Given the description of an element on the screen output the (x, y) to click on. 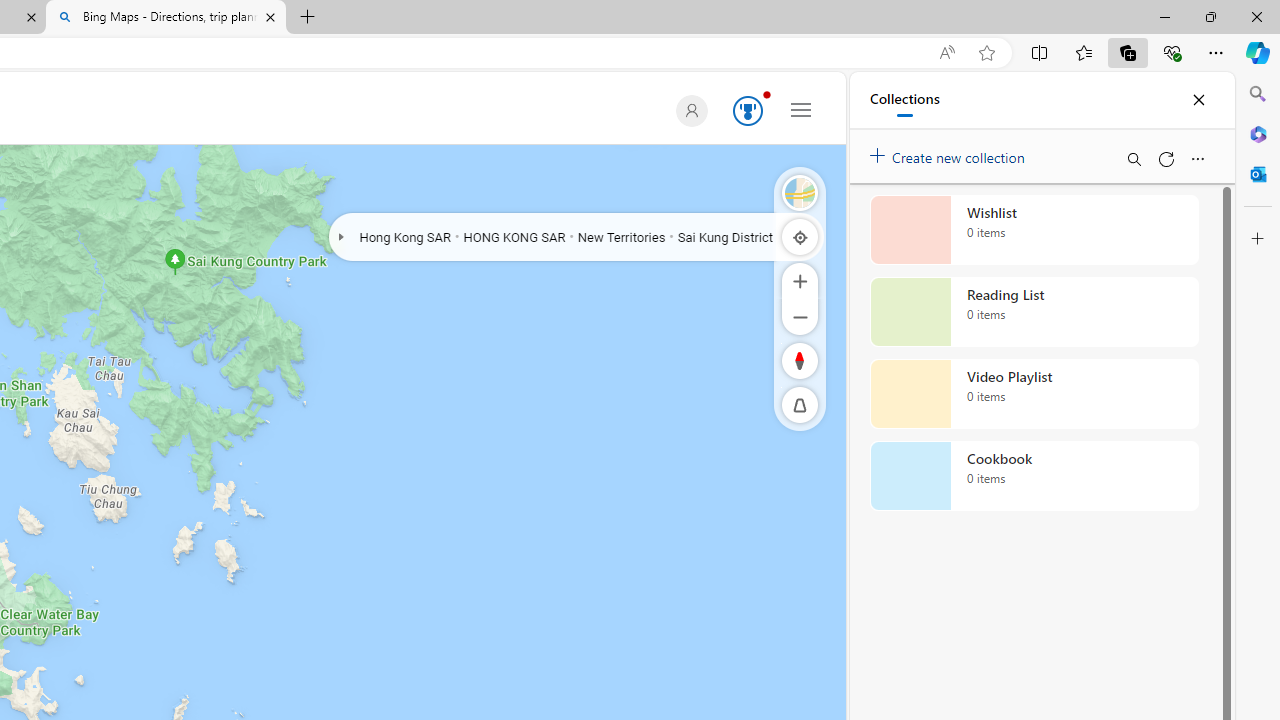
Add this page to favorites (Ctrl+D) (986, 53)
Outlook (1258, 174)
Select Style (799, 192)
Settings and more (Alt+F) (1215, 52)
Restore (1210, 16)
New Tab (308, 17)
Microsoft Rewards 63 (744, 111)
Refresh (1165, 158)
Reading List collection, 0 items (1034, 312)
Collections (904, 99)
Close tab (270, 16)
Reset to Default Pitch (799, 405)
Settings and quick links (801, 109)
Browser essentials (1171, 52)
